Given the description of an element on the screen output the (x, y) to click on. 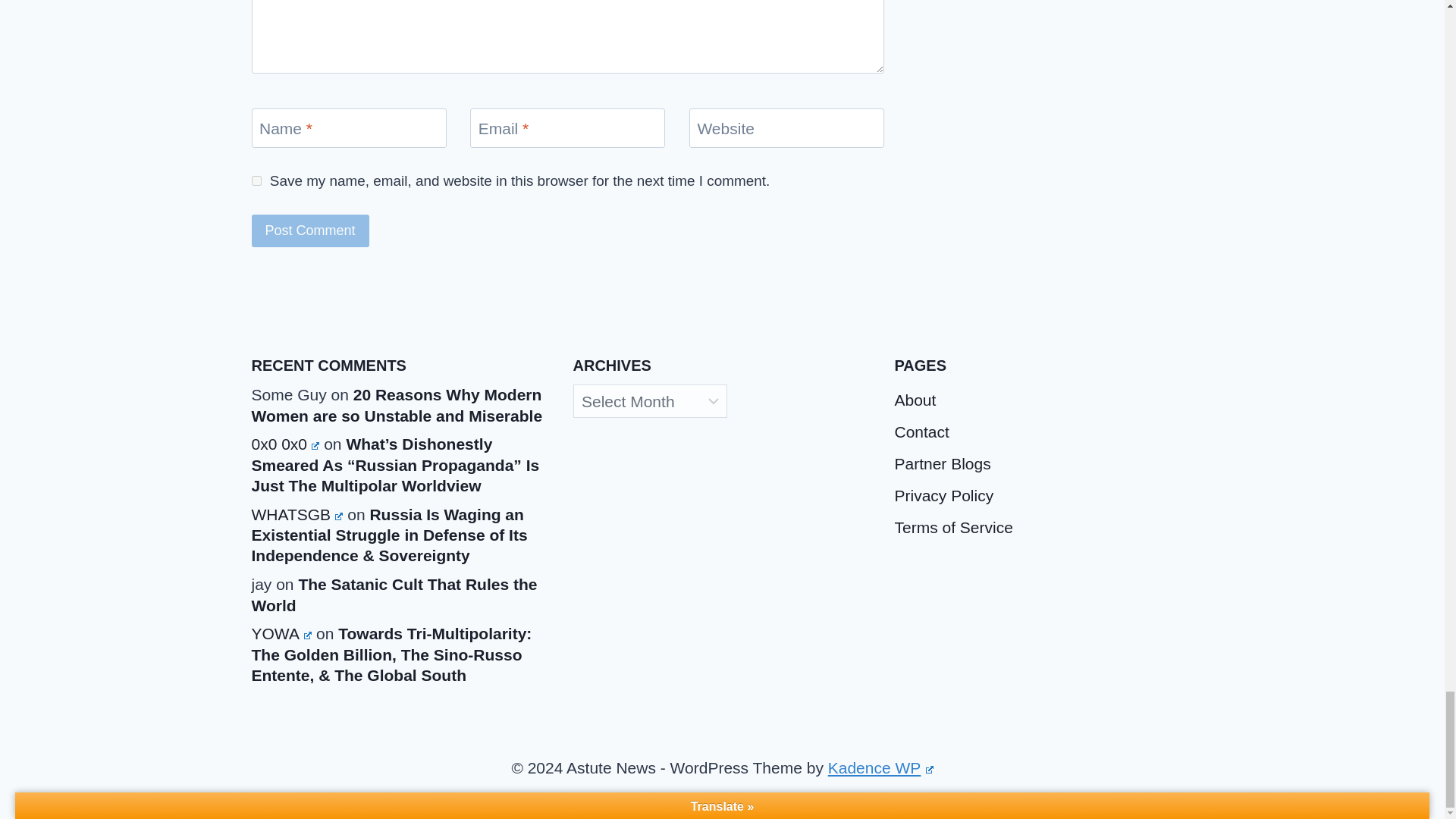
yes (256, 180)
Post Comment (310, 230)
